Given the description of an element on the screen output the (x, y) to click on. 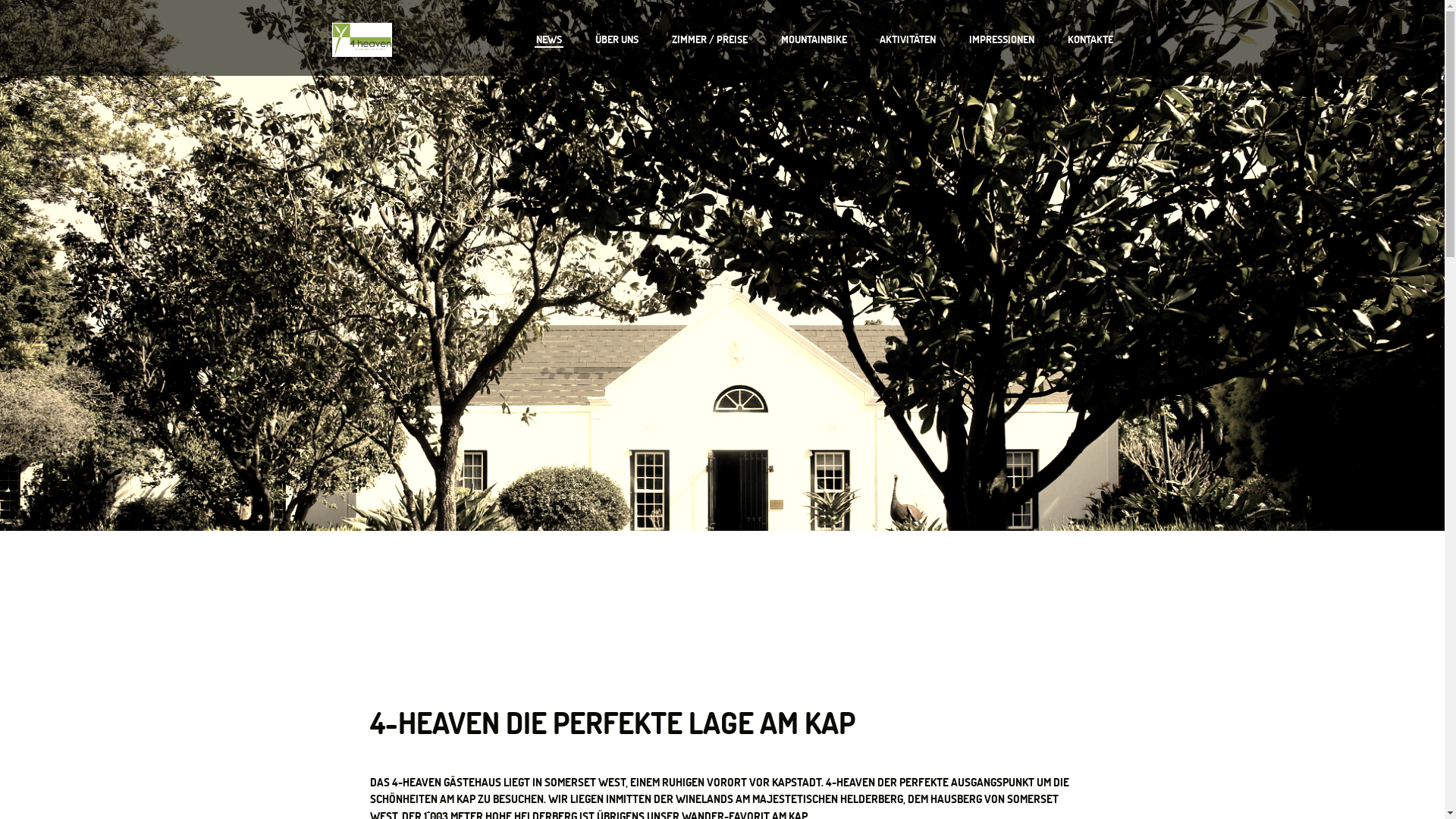
IMPRESSIONEN Element type: text (1001, 38)
NEWS Element type: text (548, 39)
ZIMMER / PREISE Element type: text (709, 38)
KONTAKTE Element type: text (1090, 38)
MOUNTAINBIKE Element type: text (813, 38)
